Given the description of an element on the screen output the (x, y) to click on. 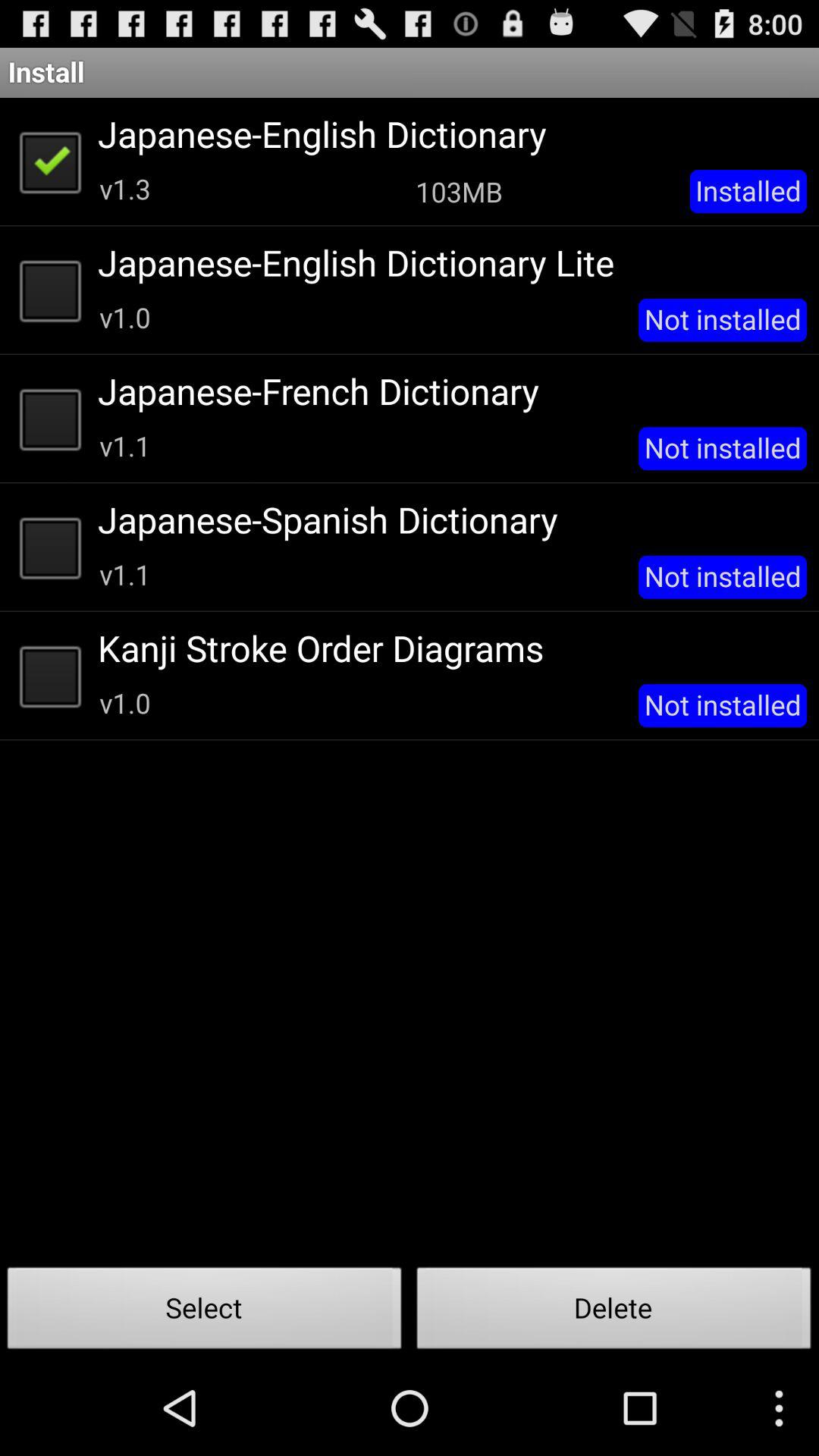
press select icon (204, 1312)
